Given the description of an element on the screen output the (x, y) to click on. 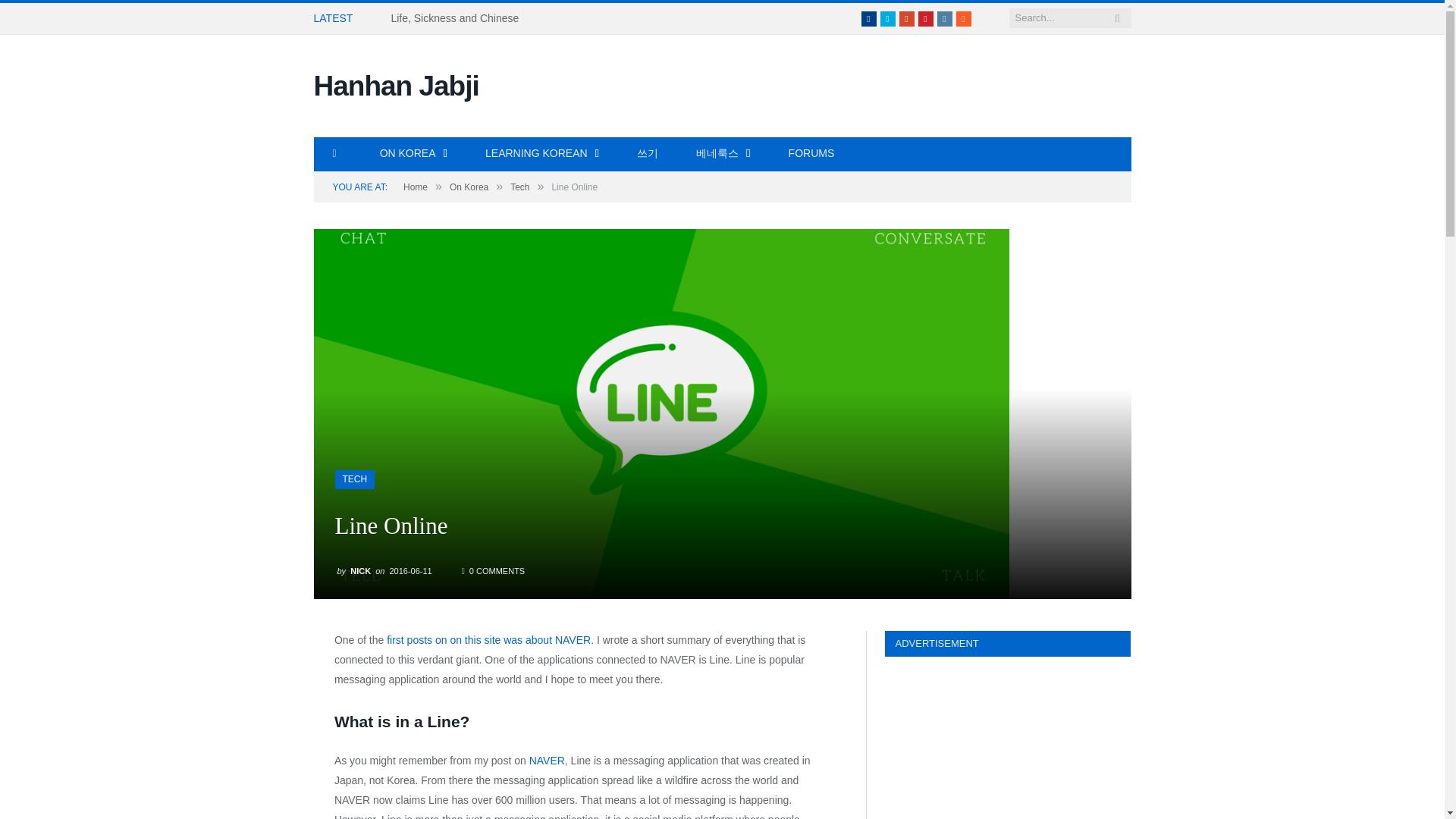
LEARNING KOREAN (541, 154)
Hanhan Jabji (396, 85)
Facebook (868, 18)
Instagram (944, 18)
RSS (963, 18)
Twitter (887, 18)
Hanhan Jabji (396, 85)
Life, Sickness and Chinese (457, 18)
ON KOREA (413, 154)
Facebook (868, 18)
